Given the description of an element on the screen output the (x, y) to click on. 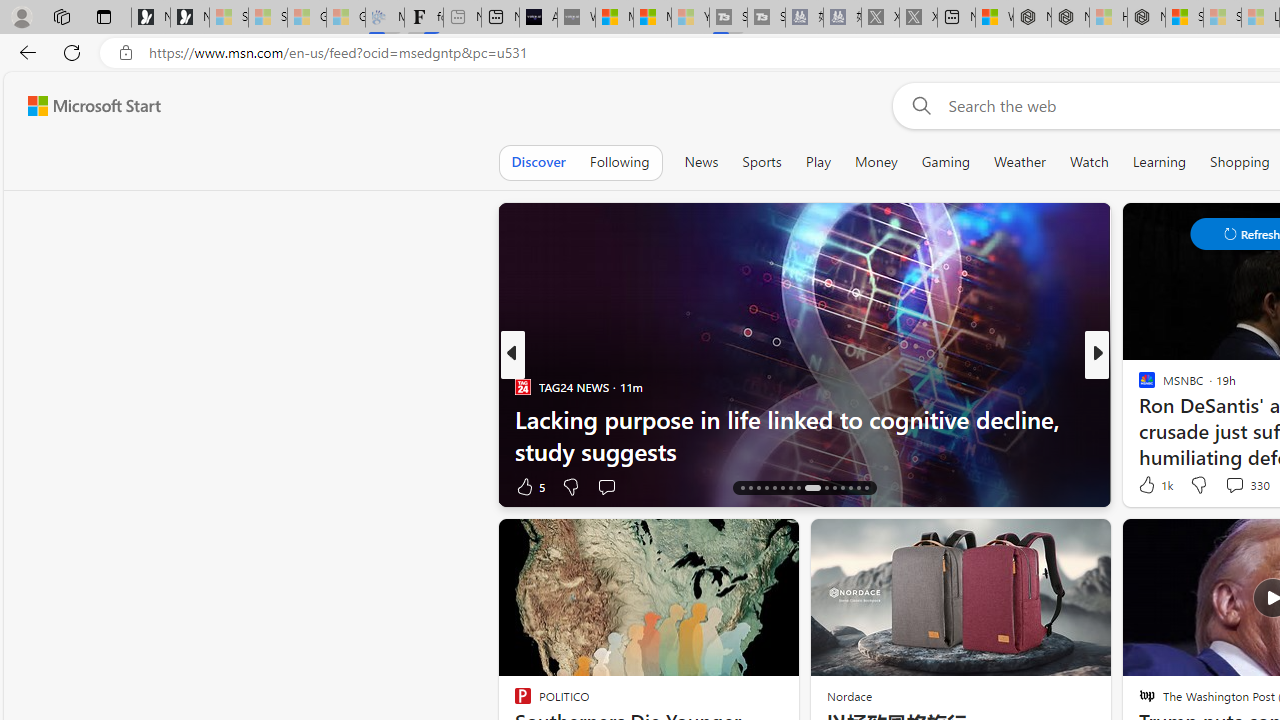
View comments 55 Comment (1237, 486)
AutomationID: tab-17 (750, 487)
View comments 33 Comment (1237, 486)
View comments 39 Comment (11, 485)
